Given the description of an element on the screen output the (x, y) to click on. 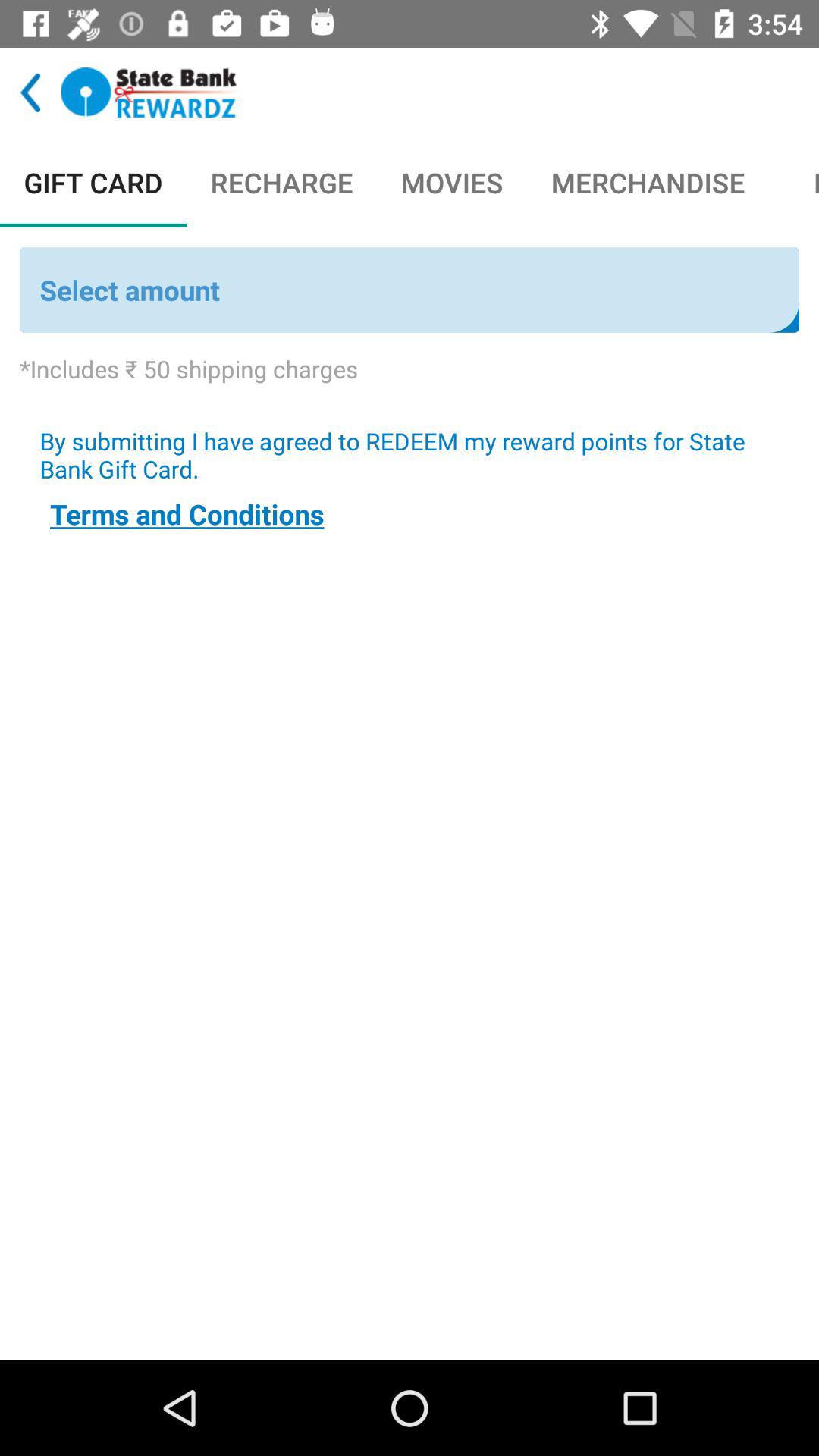
turn on the app below the by submitting i (186, 514)
